Given the description of an element on the screen output the (x, y) to click on. 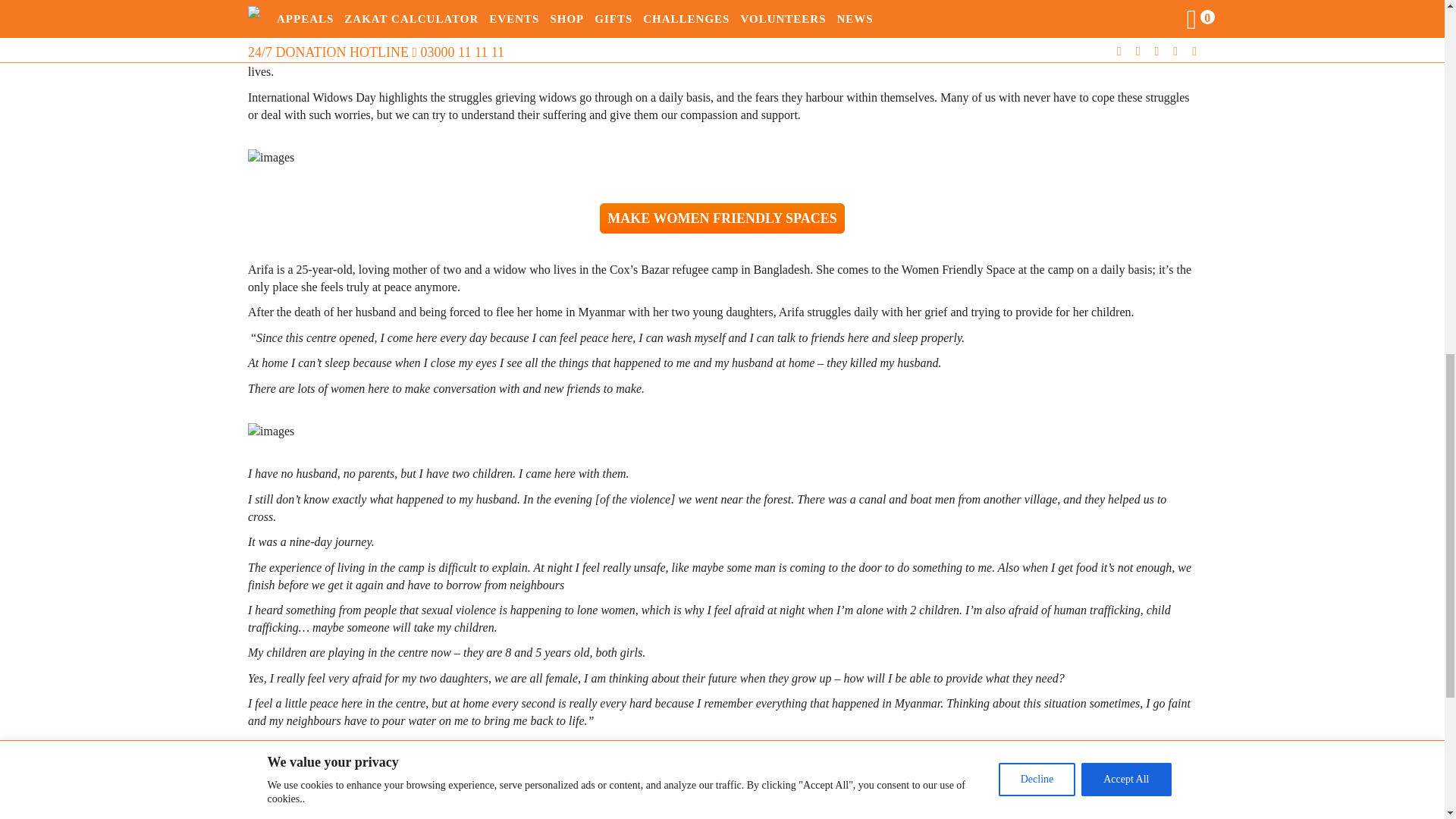
MAKE WOMEN FRIENDLY SPACES (722, 218)
